Given the description of an element on the screen output the (x, y) to click on. 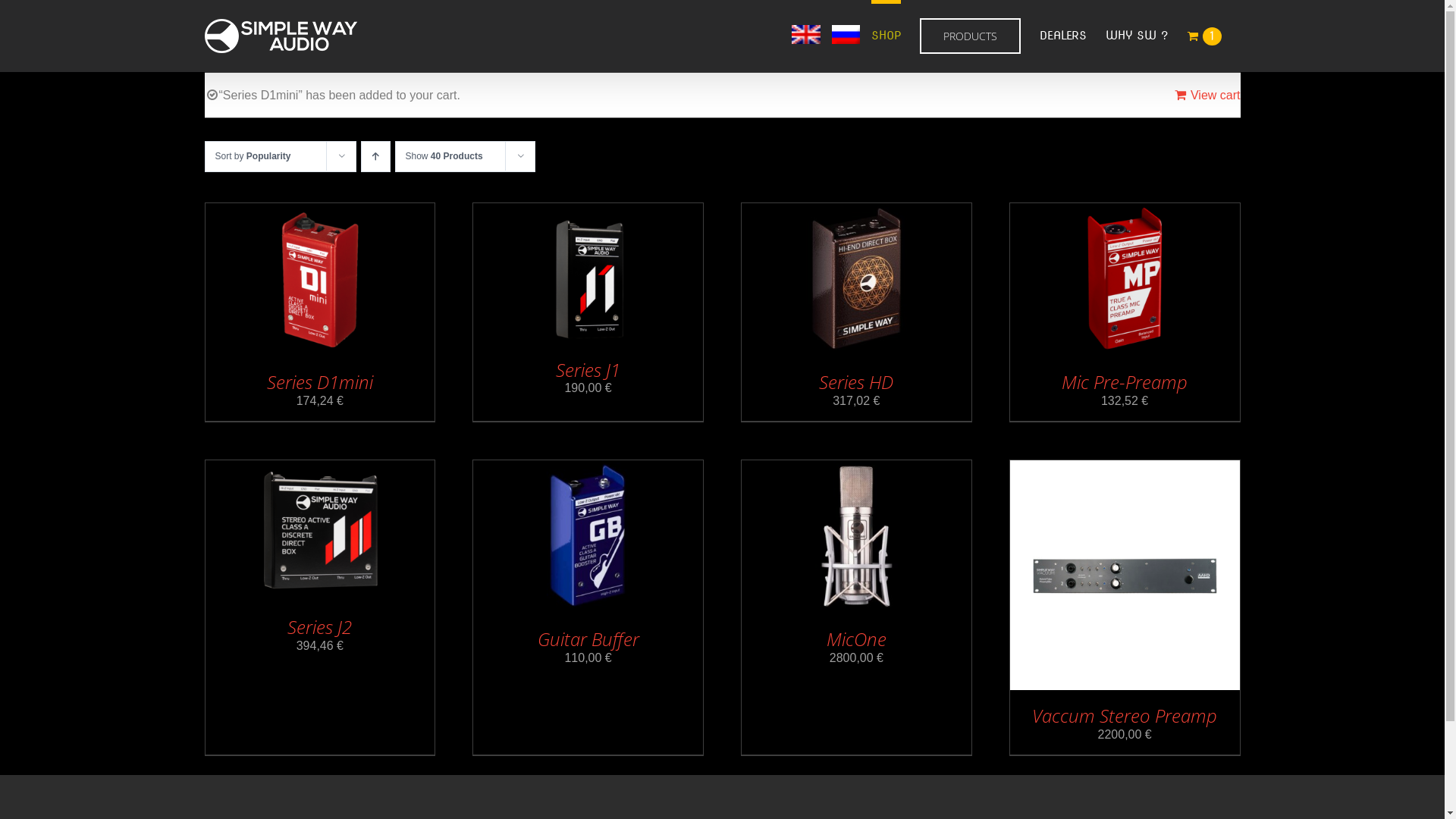
DEALERS Element type: text (1062, 34)
SHOP Element type: text (885, 34)
Series HD Element type: text (856, 381)
MicOne Element type: text (856, 638)
Show 40 Products Element type: text (443, 155)
Vaccum Stereo Preamp Element type: text (1124, 715)
PRODUCTS Element type: text (969, 34)
Sort by Popularity Element type: text (253, 155)
View cart Element type: text (1207, 94)
Series J1 Element type: text (587, 369)
1 Element type: text (1204, 34)
Series J2 Element type: text (319, 626)
Guitar Buffer Element type: text (588, 638)
WHY SW ? Element type: text (1136, 34)
Series D1mini Element type: text (319, 381)
Mic Pre-Preamp Element type: text (1124, 381)
